Given the description of an element on the screen output the (x, y) to click on. 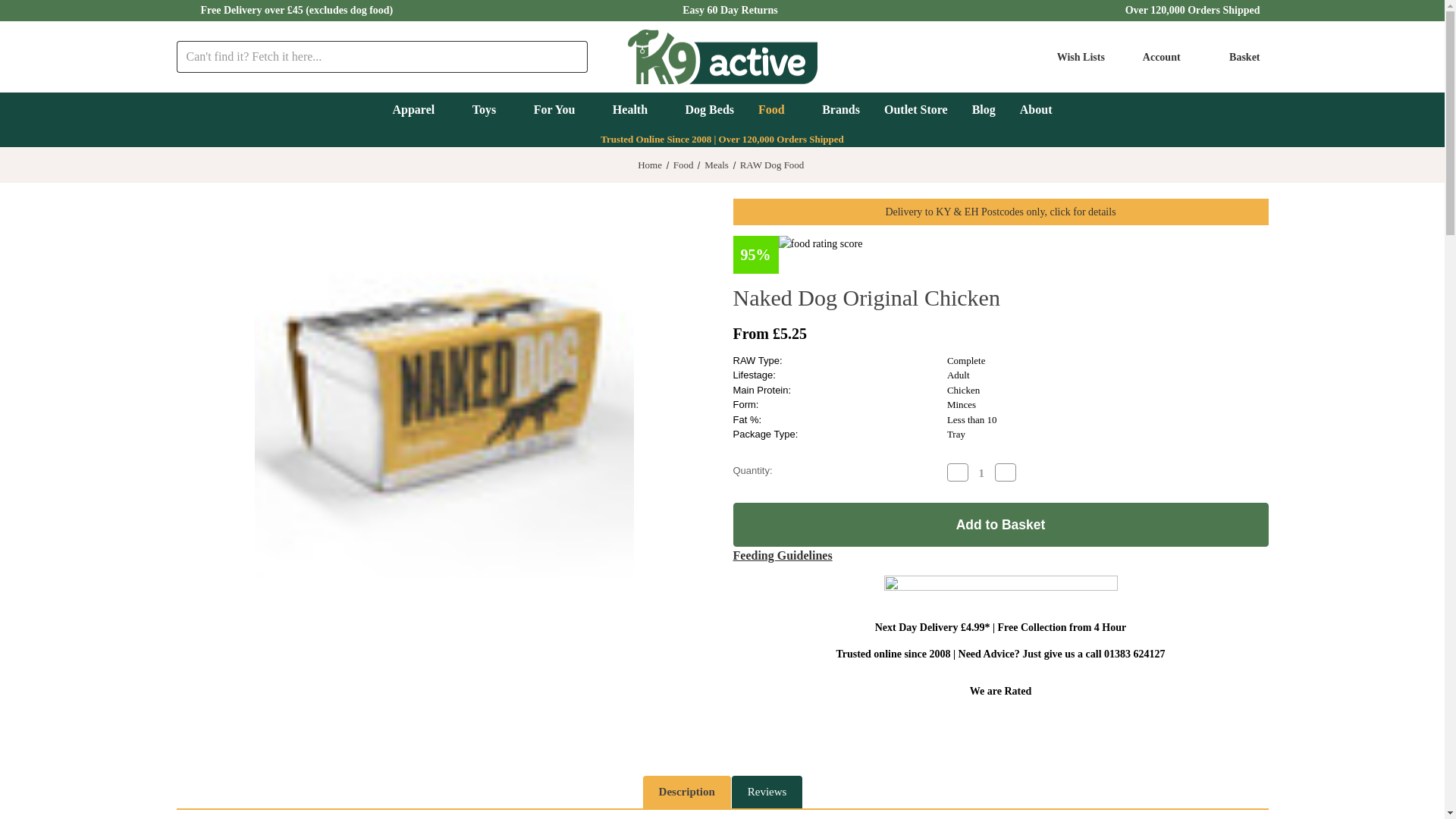
Wish Lists (1071, 56)
Account (1157, 56)
K9 Active (721, 57)
Basket (1235, 56)
For You (560, 111)
Toys (490, 111)
Add to Basket (1000, 524)
1 (981, 472)
Apparel (420, 111)
